Given the description of an element on the screen output the (x, y) to click on. 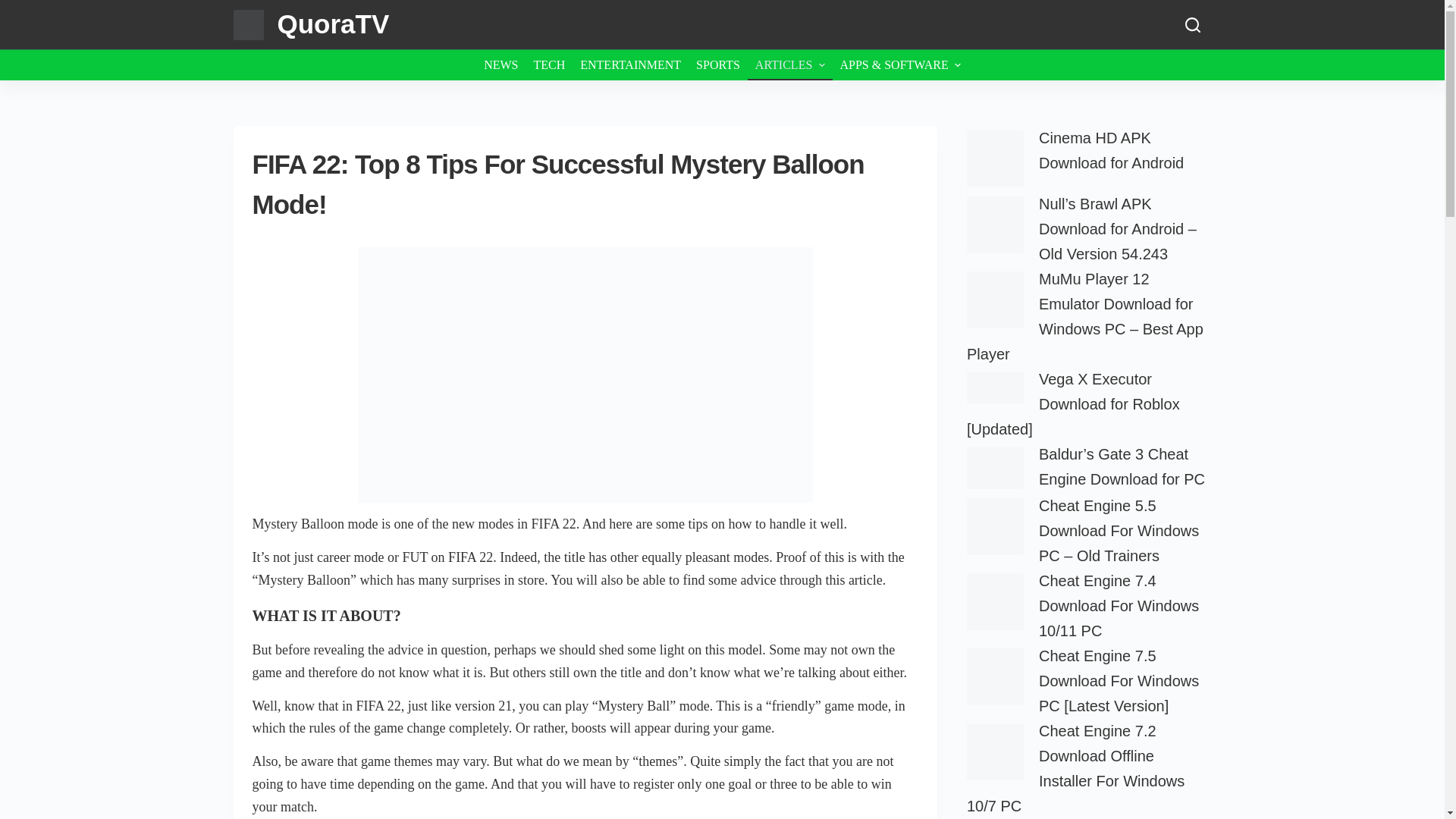
FIFA 22: Top 8 Tips For Successful Mystery Balloon Mode! (584, 184)
FIFA 22: Top 8 Tips for Successful Mystery Balloon Mode! (585, 374)
Skip to content (15, 7)
ENTERTAINMENT (630, 64)
TECH (548, 64)
NEWS (500, 64)
QuoraTV (334, 23)
SPORTS (718, 64)
ARTICLES (790, 64)
